Given the description of an element on the screen output the (x, y) to click on. 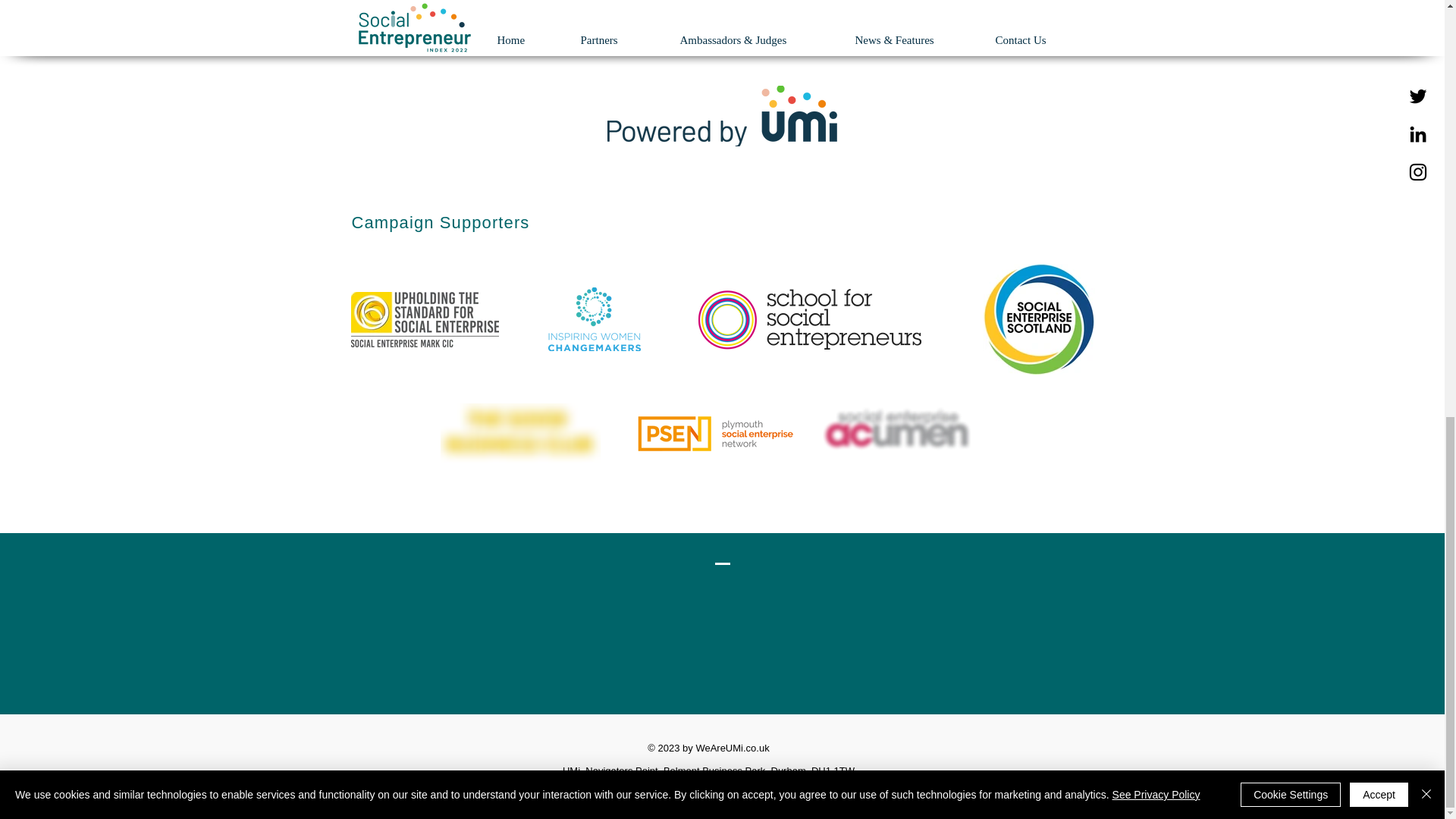
Privacy Statement (708, 804)
